Given the description of an element on the screen output the (x, y) to click on. 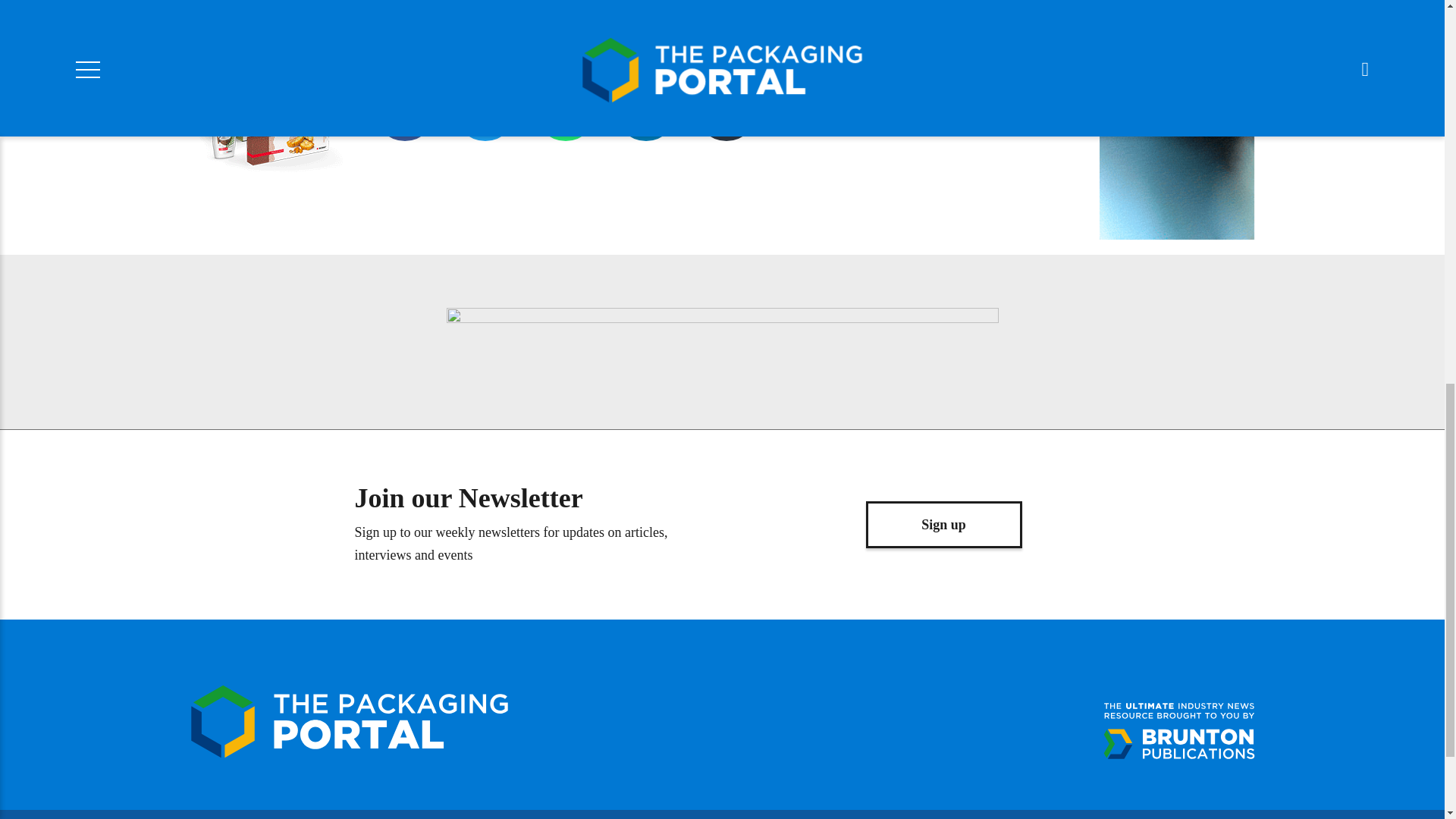
Share on Twitter (483, 109)
Share on Whatsapp (564, 109)
Sign up (944, 524)
Share on Facebook (403, 109)
Send link to friend (725, 109)
Share on LinkedIn (645, 109)
